Given the description of an element on the screen output the (x, y) to click on. 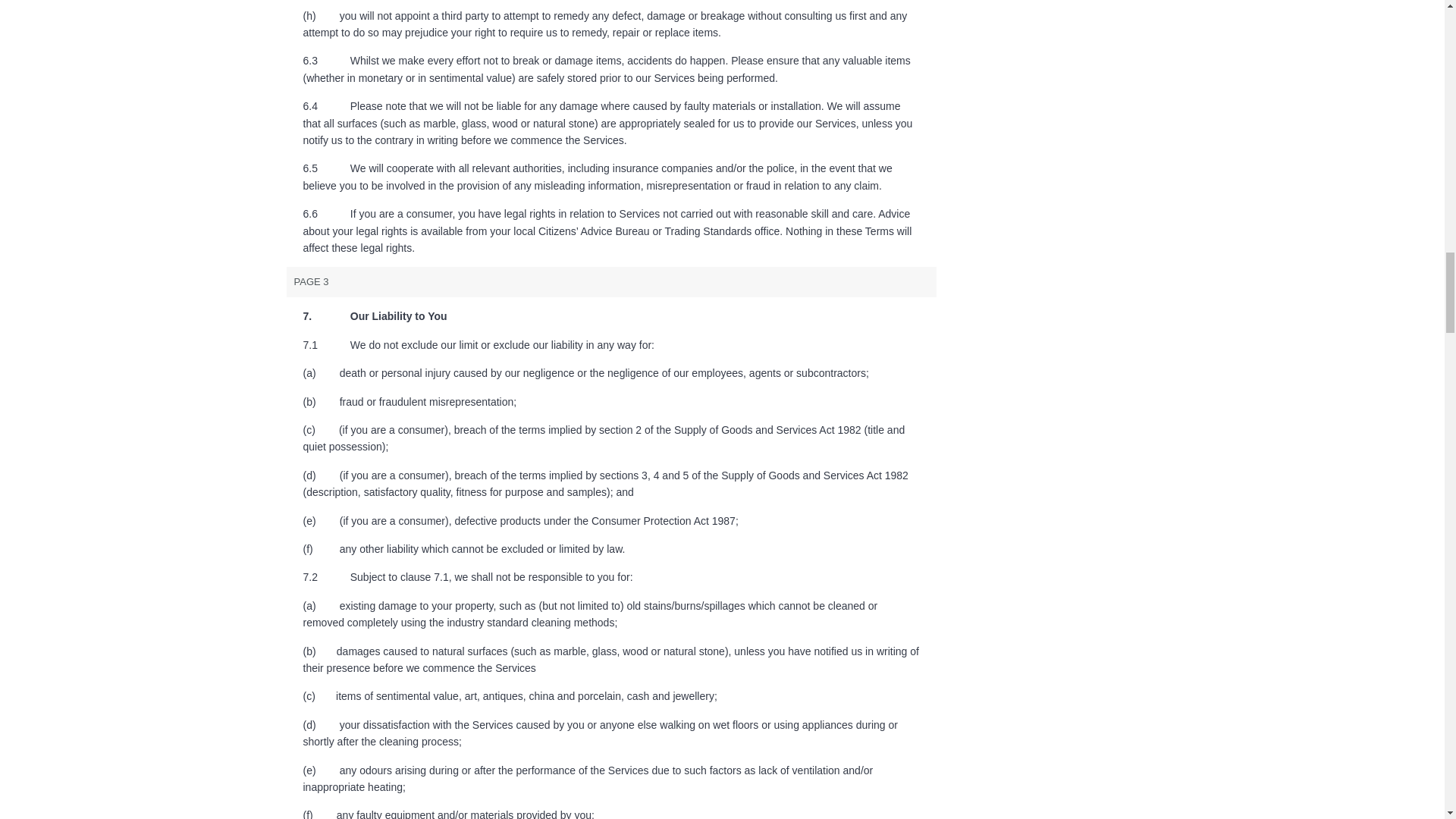
PAGE 3 (611, 282)
